Given the description of an element on the screen output the (x, y) to click on. 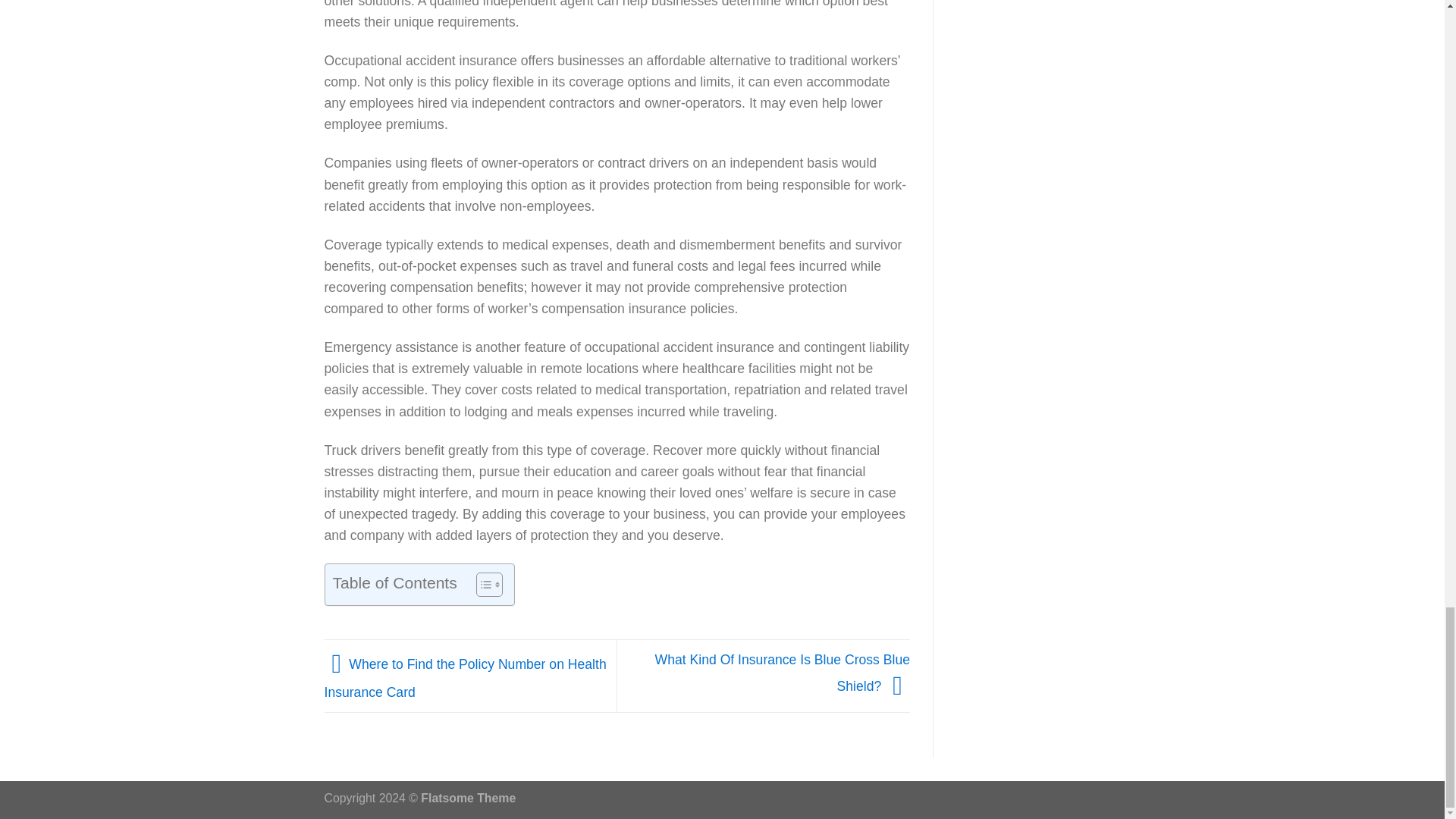
Where to Find the Policy Number on Health Insurance Card (465, 677)
What Kind Of Insurance Is Blue Cross Blue Shield? (782, 671)
